Given the description of an element on the screen output the (x, y) to click on. 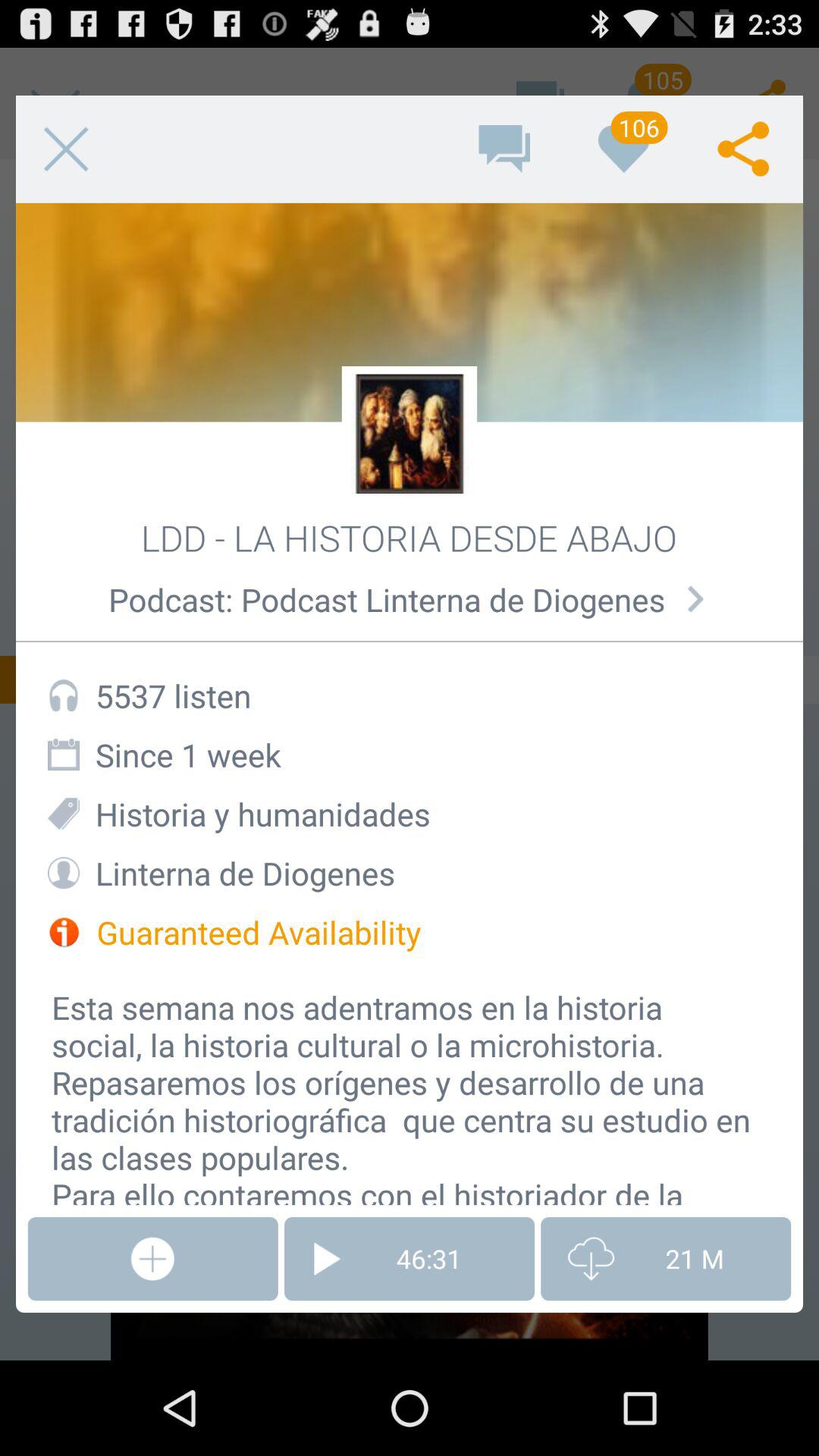
select the icon to the right of 46:31 (665, 1258)
